Given the description of an element on the screen output the (x, y) to click on. 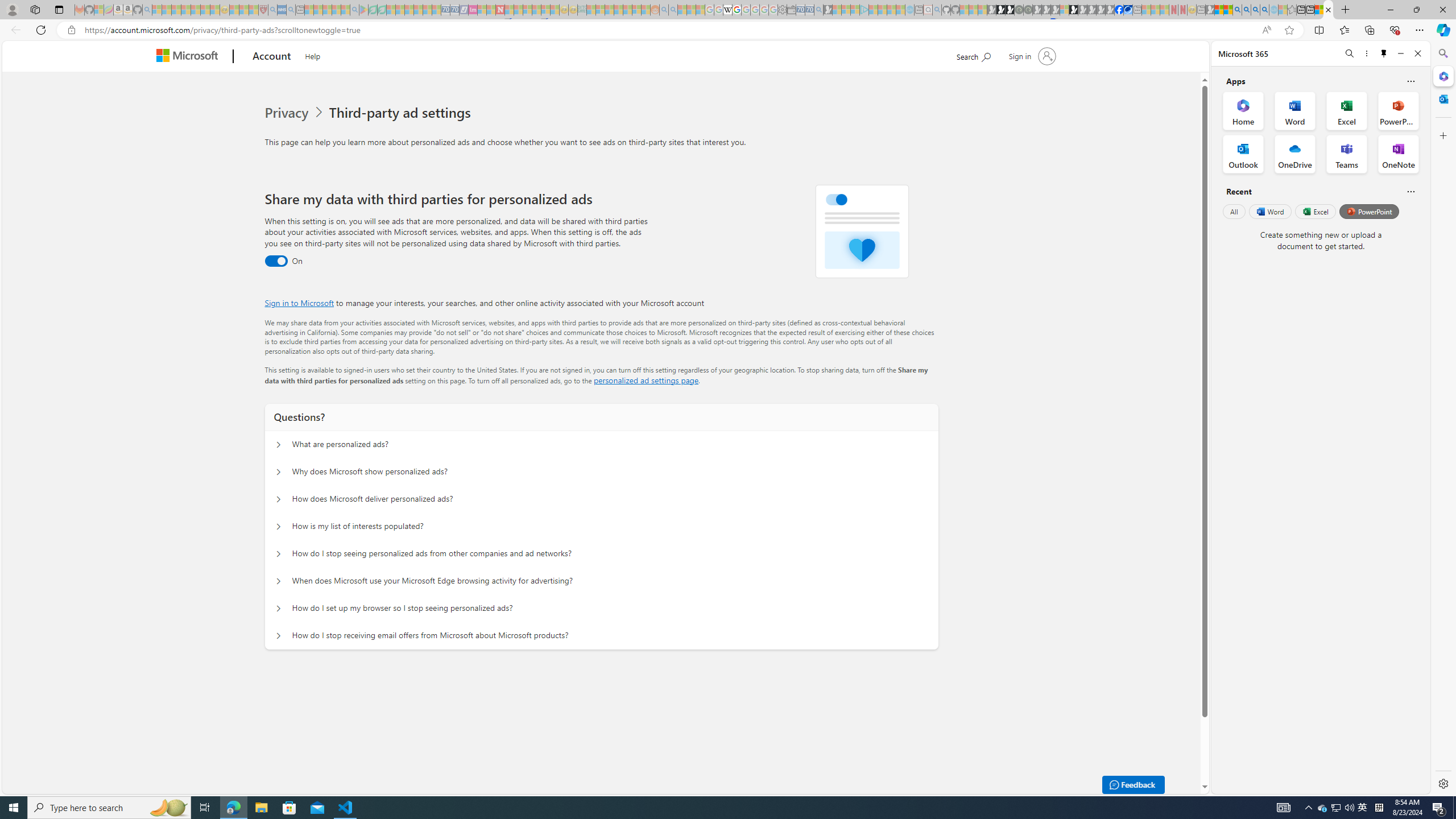
MSN - Sleeping (1210, 9)
OneNote Office App (1398, 154)
2009 Bing officially replaced Live Search on June 3 - Search (1246, 9)
Close Microsoft 365 pane (1442, 76)
